Given the description of an element on the screen output the (x, y) to click on. 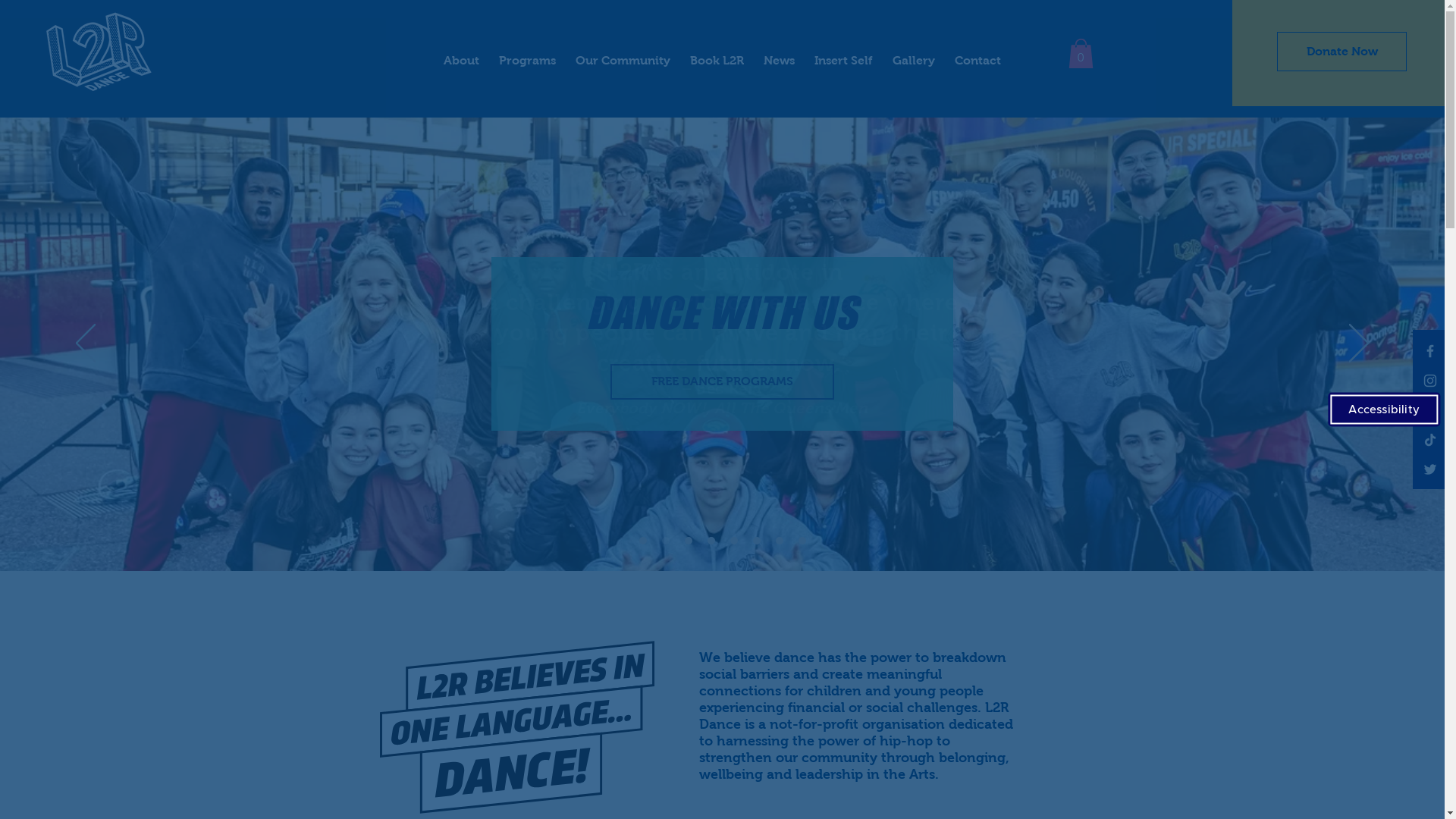
0 Element type: text (1079, 53)
Book L2R Element type: text (716, 53)
FREE DANCE PROGRAMS Element type: text (721, 381)
Donate Now Element type: text (1341, 51)
Contact Element type: text (977, 53)
News Element type: text (778, 53)
Insert Self Element type: text (843, 53)
